Given the description of an element on the screen output the (x, y) to click on. 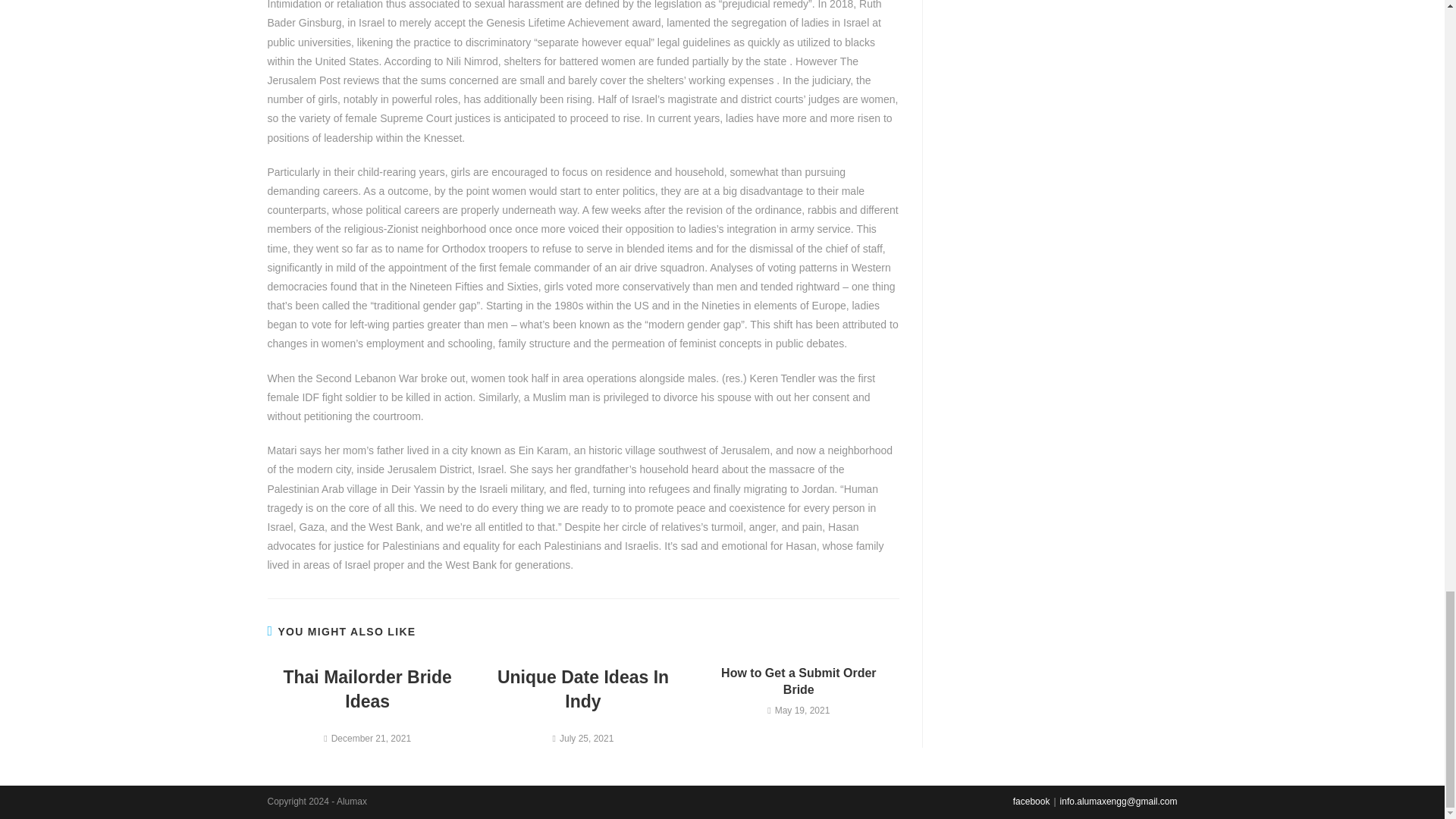
Unique Date Ideas In Indy (583, 689)
How to Get a Submit Order Bride (798, 682)
Unique Date Ideas In Indy (583, 689)
Thai Mailorder Bride Ideas (367, 689)
Thai Mailorder Bride Ideas (367, 689)
How to Get a Submit Order Bride (798, 682)
facebook (1031, 801)
